Given the description of an element on the screen output the (x, y) to click on. 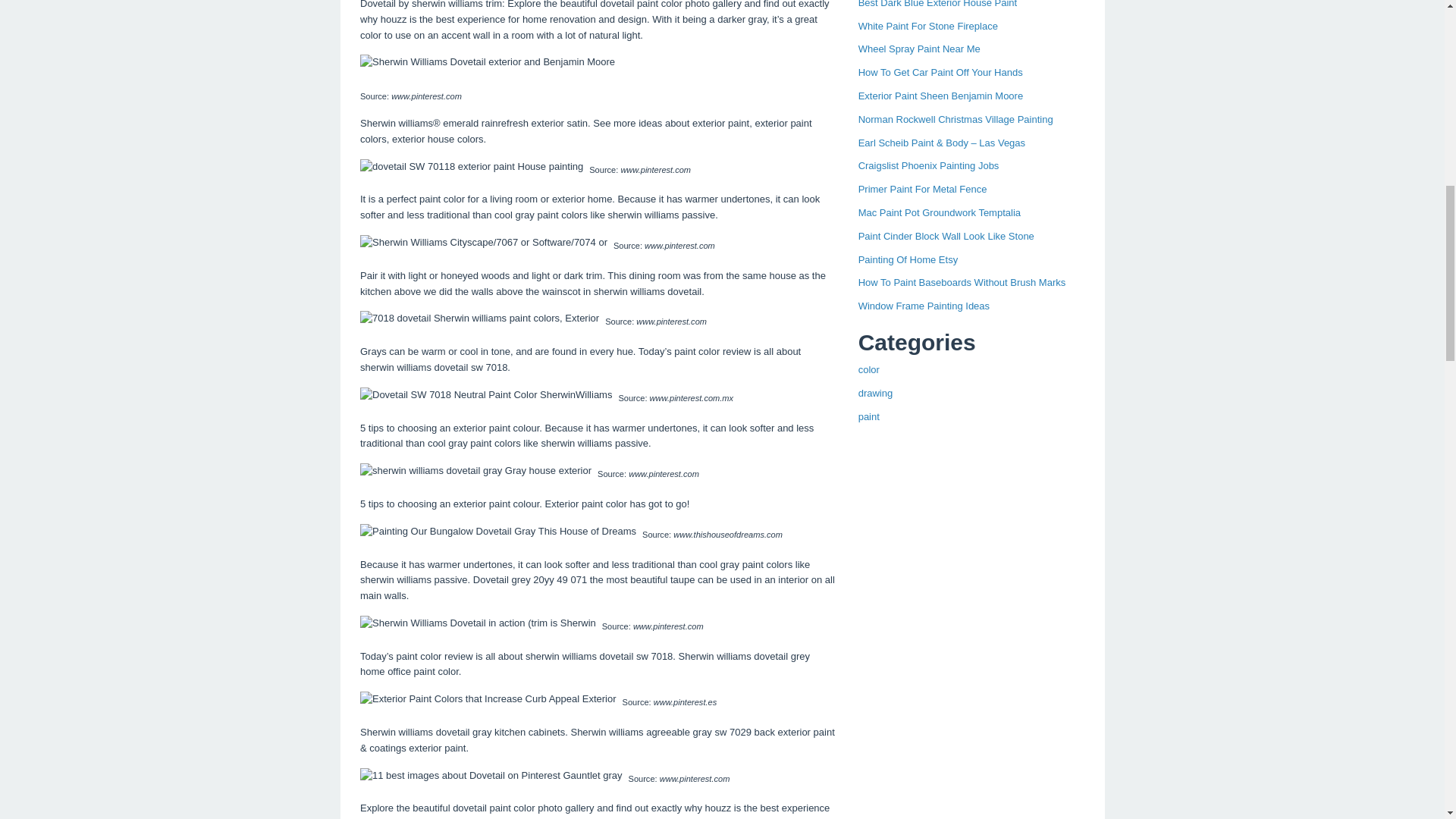
How To Get Car Paint Off Your Hands (941, 71)
Best Dark Blue Exterior House Paint (938, 4)
Wheel Spray Paint Near Me (919, 48)
White Paint For Stone Fireplace (928, 25)
